Given the description of an element on the screen output the (x, y) to click on. 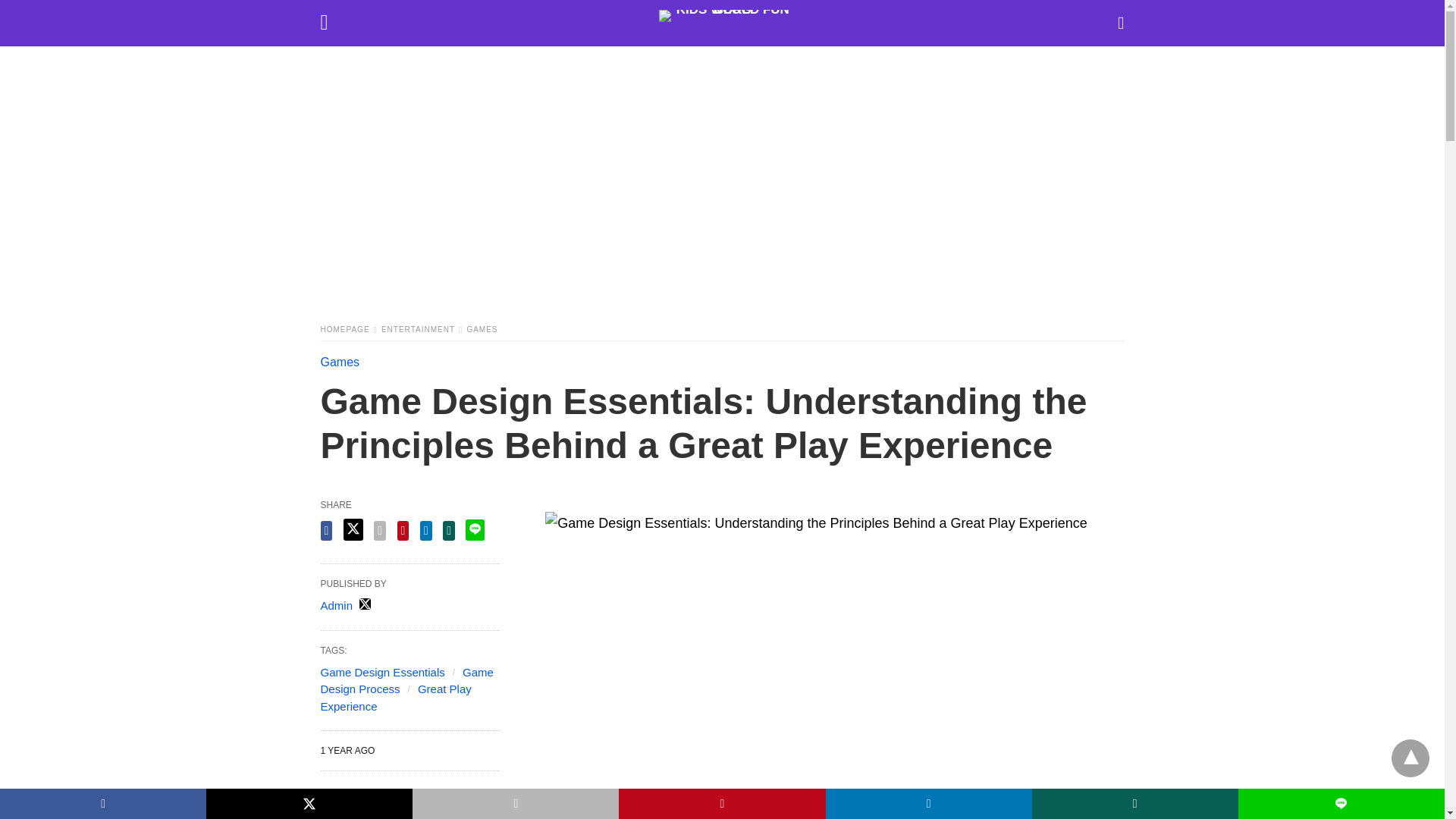
GAMES (481, 329)
HOMEPAGE (348, 329)
Games (339, 361)
Game Design Process (406, 680)
Admin (336, 604)
line share (474, 529)
Homepage (348, 329)
ENTERTAINMENT (422, 329)
Game Design Essentials (382, 671)
Great Play Experience (395, 697)
